Given the description of an element on the screen output the (x, y) to click on. 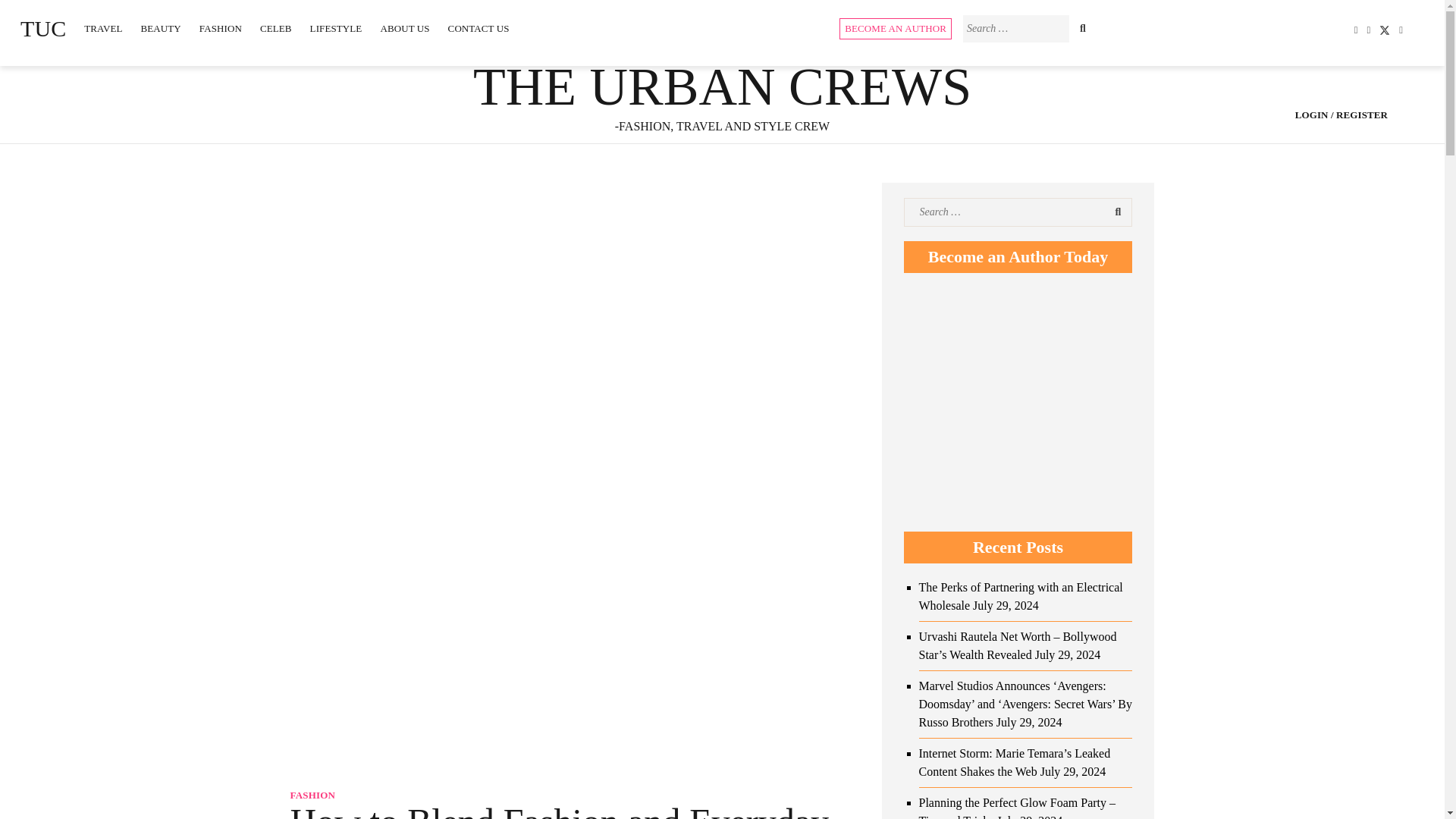
CONTACT US (478, 28)
FASHION (220, 28)
BECOME AN AUTHOR (896, 28)
FASHION (311, 794)
BEAUTY (161, 28)
ABOUT US (404, 28)
TUC (43, 28)
LIFESTYLE (336, 28)
TRAVEL (103, 28)
THE URBAN CREWS (722, 86)
The Perks of Partnering with an Electrical Wholesale (1020, 595)
CELEB (275, 28)
